Given the description of an element on the screen output the (x, y) to click on. 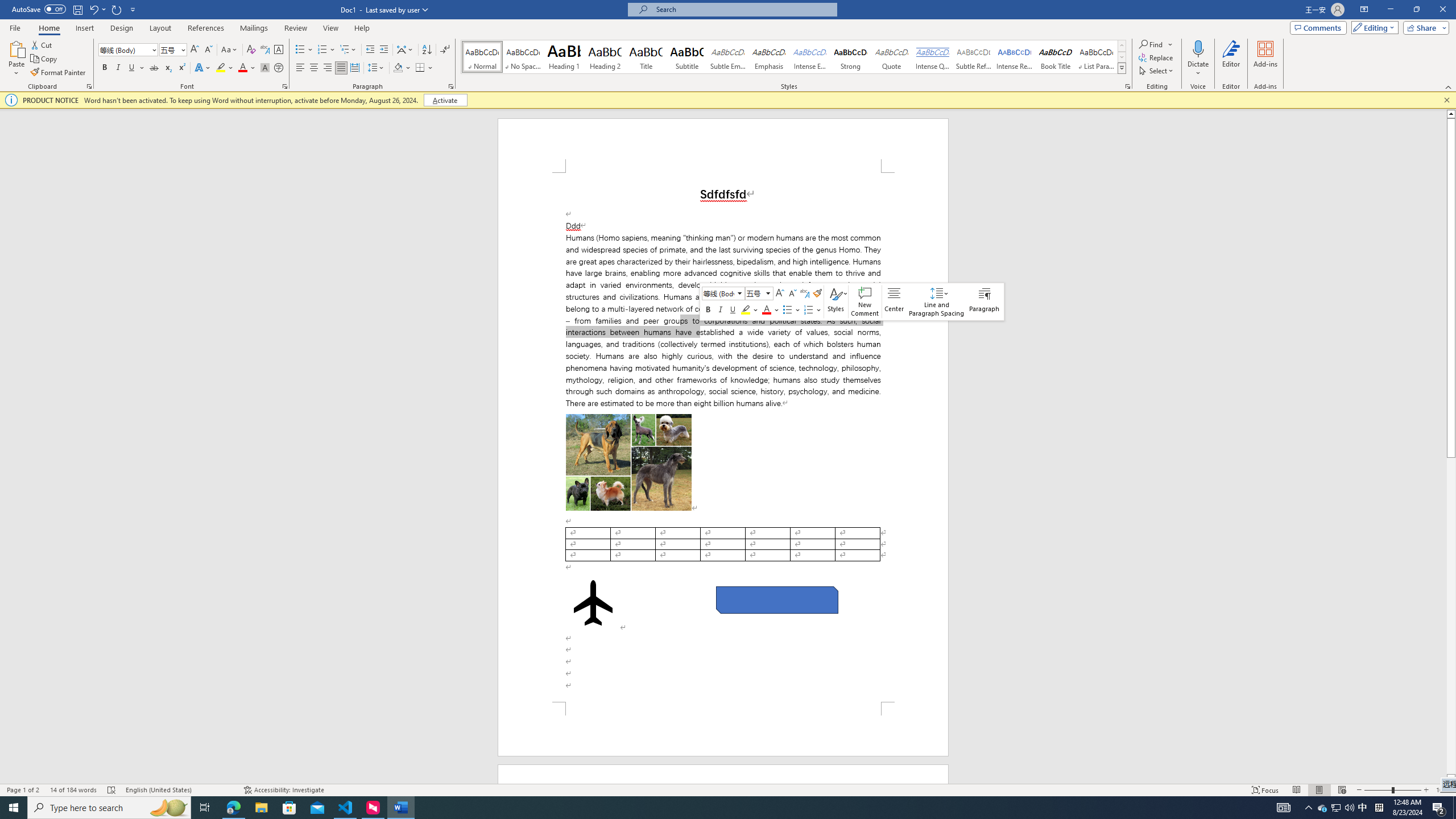
Repeat Typing (117, 9)
Undo Typing (92, 9)
